Given the description of an element on the screen output the (x, y) to click on. 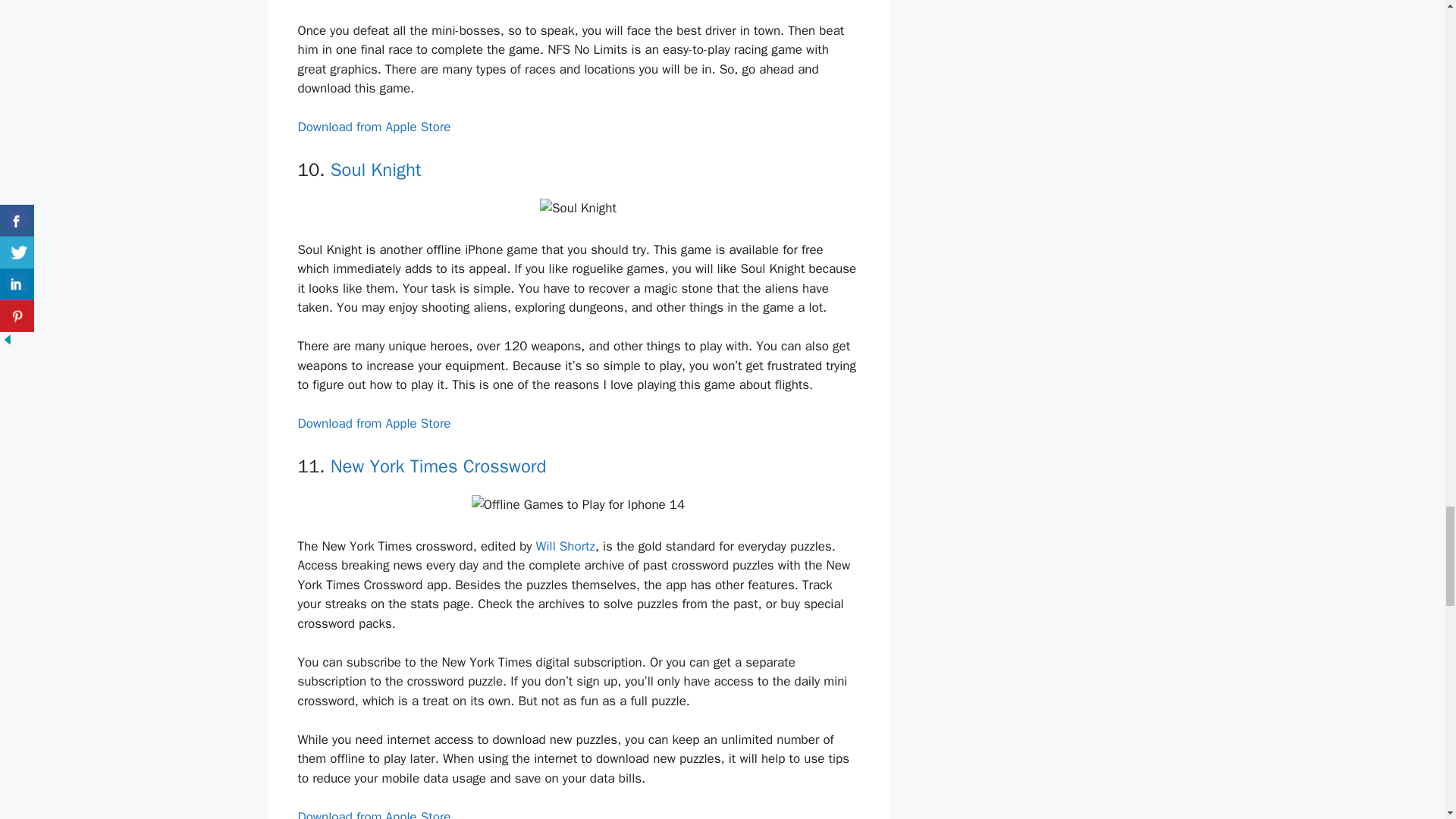
Download from Apple Store (373, 126)
